Given the description of an element on the screen output the (x, y) to click on. 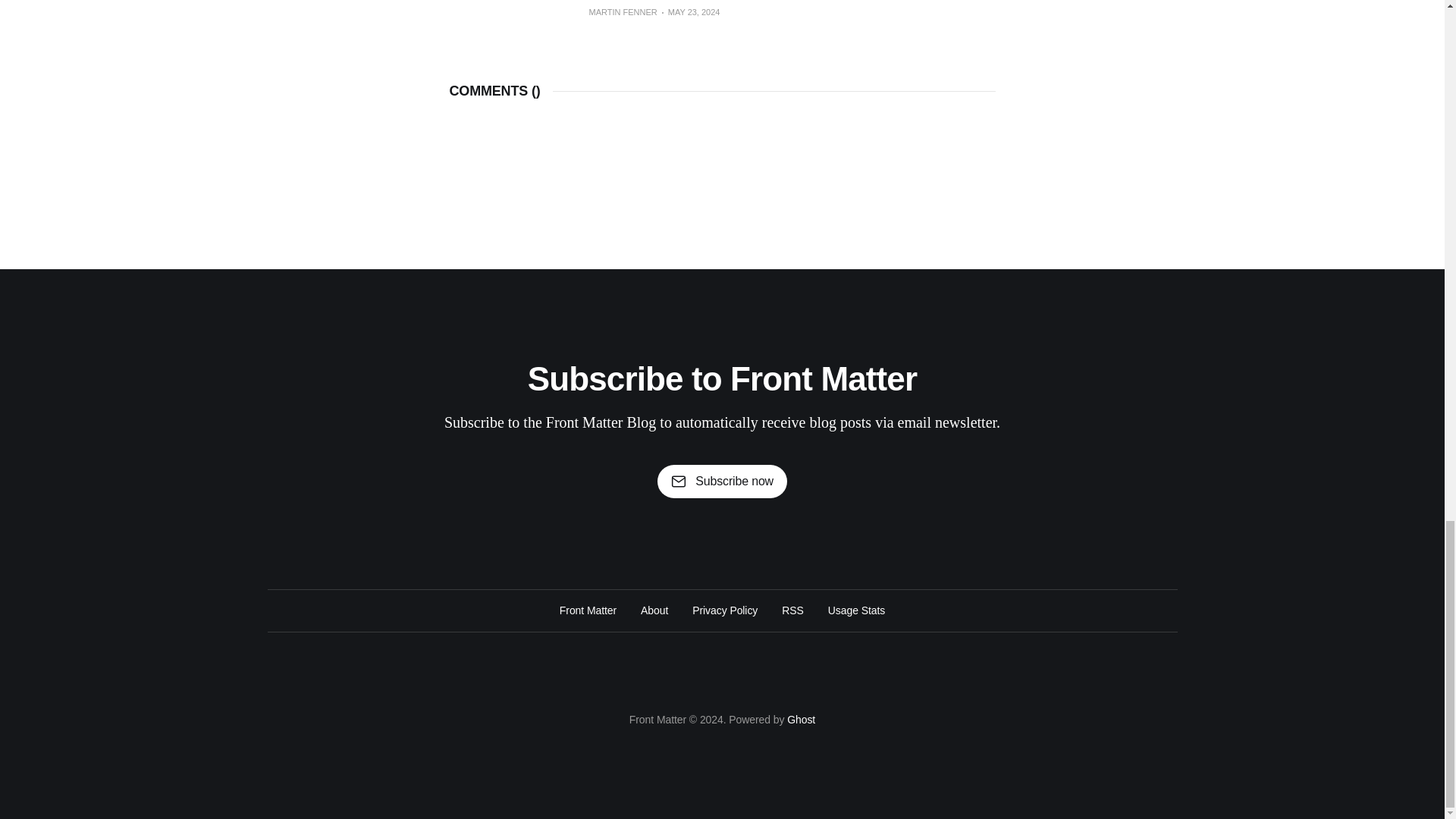
About (654, 610)
Front Matter (587, 610)
Privacy Policy (725, 610)
Ghost (801, 719)
Subscribe now (722, 481)
RSS (792, 610)
Usage Stats (856, 610)
